Given the description of an element on the screen output the (x, y) to click on. 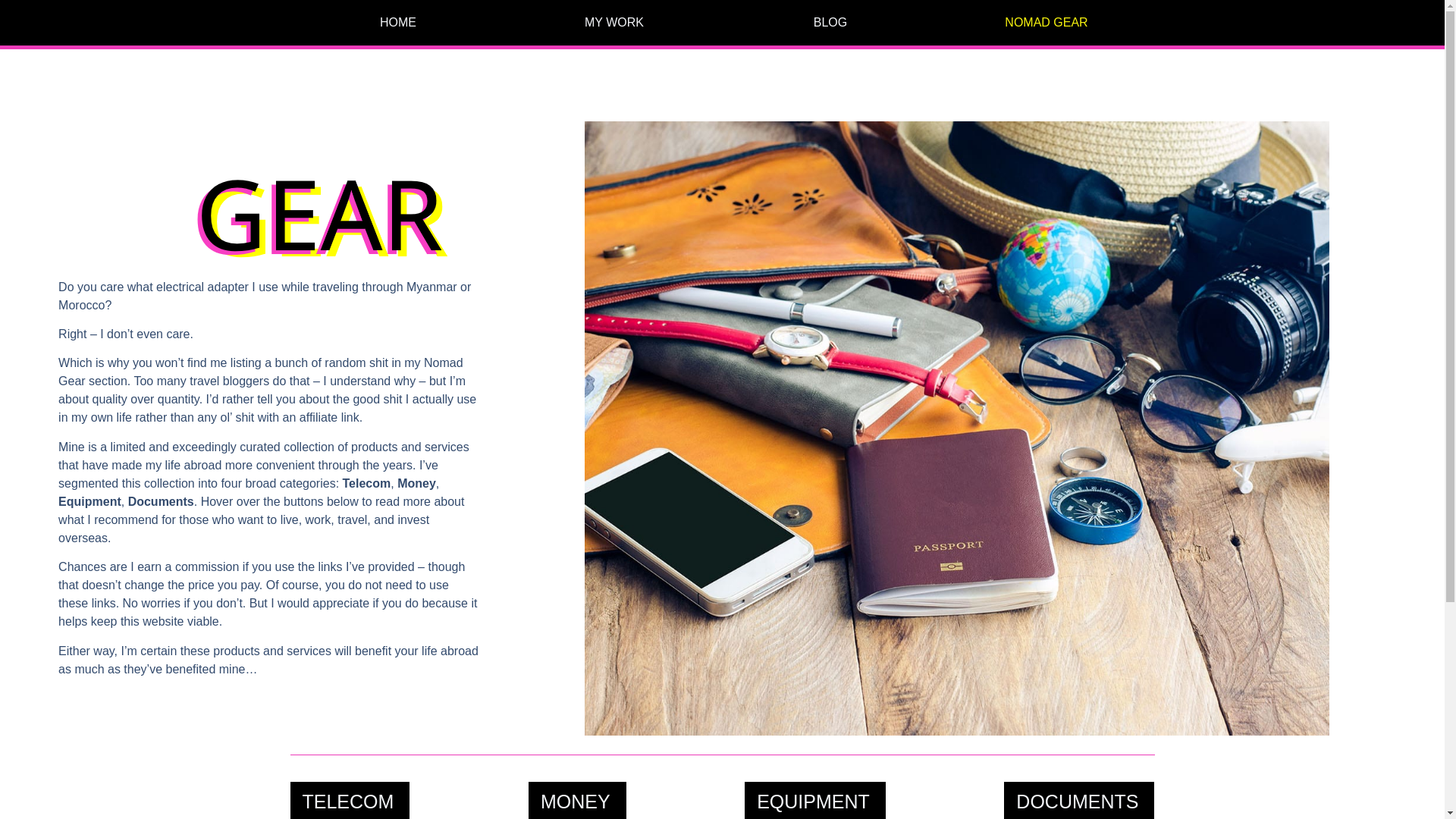
BLOG (829, 22)
NOMAD GEAR (1046, 22)
MY WORK (614, 22)
HOME (397, 22)
